Given the description of an element on the screen output the (x, y) to click on. 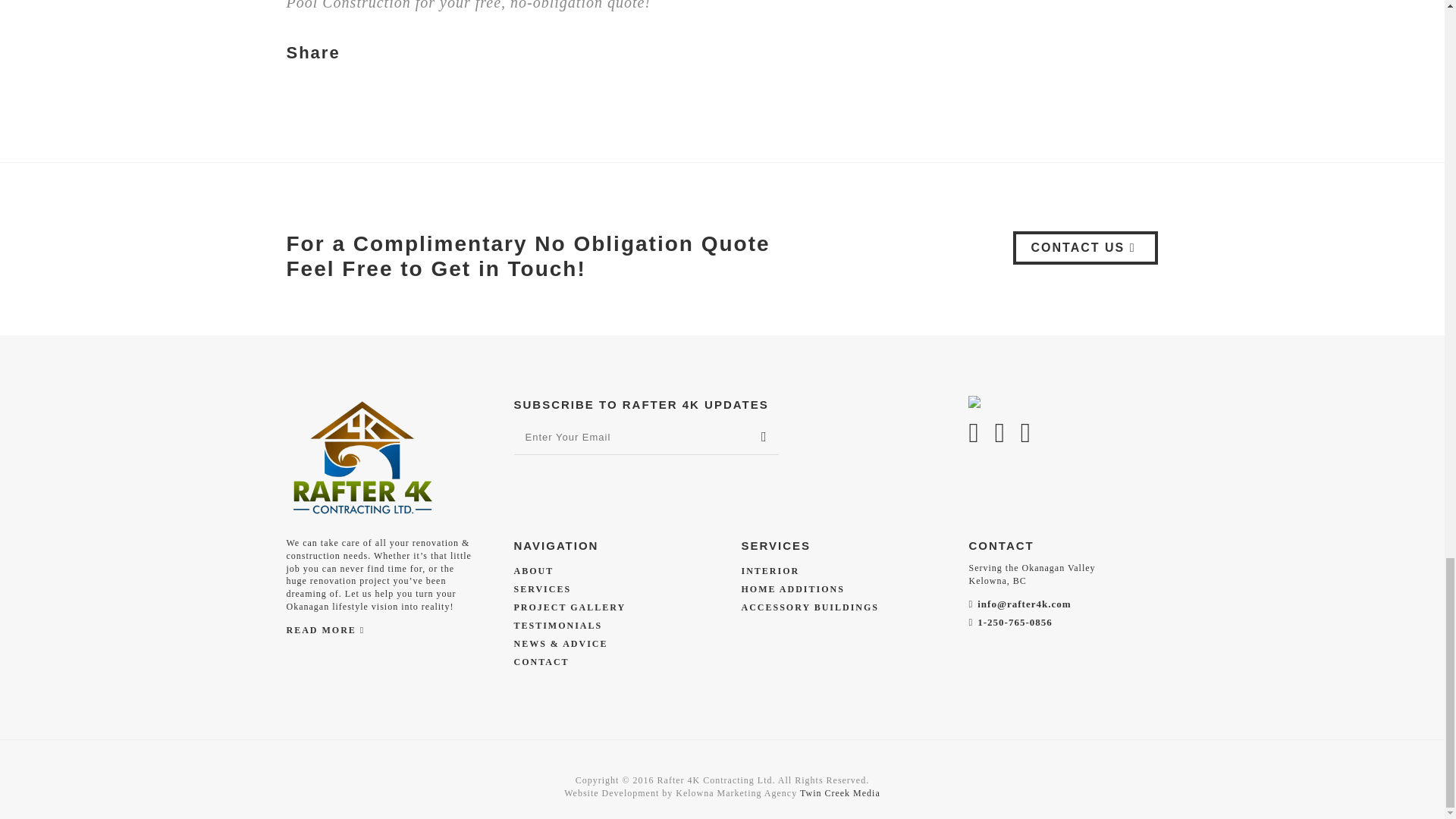
SERVICES (542, 588)
ABOUT (533, 570)
CONTACT US (1085, 247)
PROJECT GALLERY (569, 606)
READ MORE (325, 631)
